Given the description of an element on the screen output the (x, y) to click on. 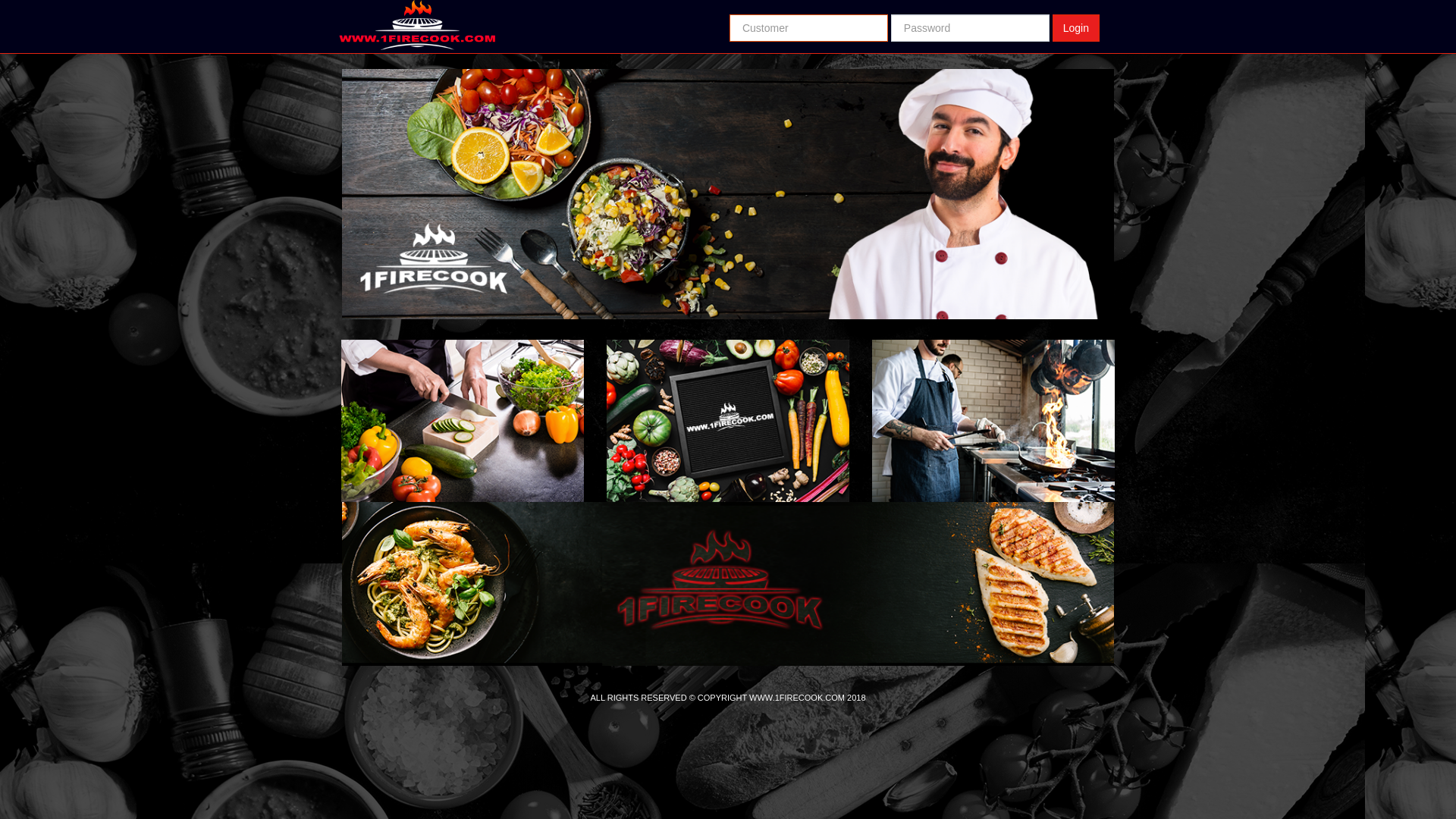
Login Element type: text (1075, 27)
Return Home Element type: hover (437, 25)
